Given the description of an element on the screen output the (x, y) to click on. 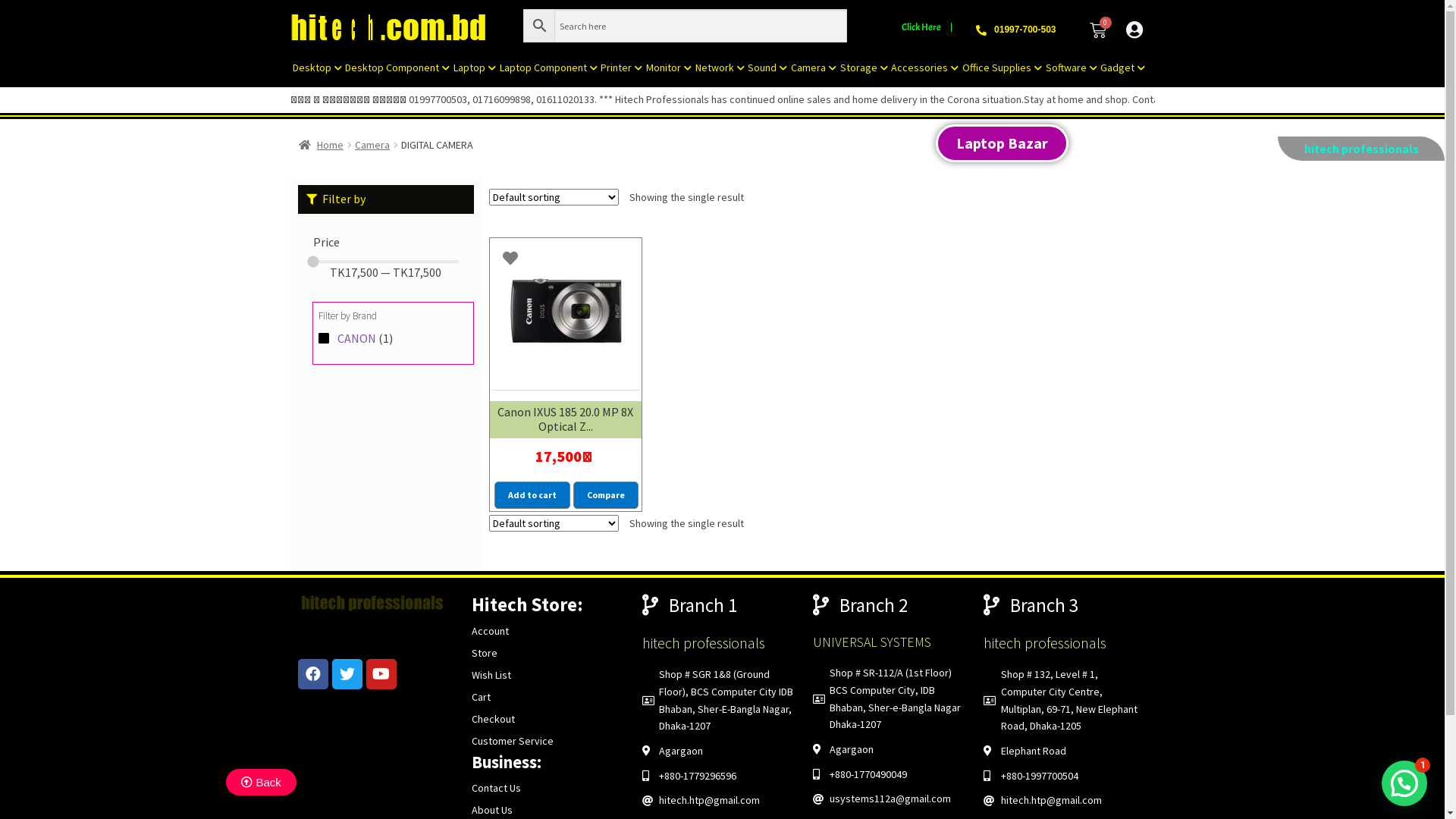
Compare Element type: text (605, 494)
Software Element type: text (1070, 67)
Sound Element type: text (767, 67)
Cart Element type: text (480, 696)
Camera Element type: text (371, 144)
Camera Element type: text (813, 67)
Store Element type: text (484, 652)
Add to cart Element type: text (532, 494)
Storage Element type: text (863, 67)
Gadget Element type: text (1122, 67)
Customer Service Element type: text (512, 740)
Account Element type: text (489, 630)
Office Supplies Element type: text (1002, 67)
hitech.htp@gmail.com Element type: text (719, 800)
Printer Element type: text (621, 67)
Laptop Element type: text (474, 67)
usystems112a@gmail.com Element type: text (890, 798)
Home Element type: text (320, 144)
Network Element type: text (719, 67)
About Us Element type: text (491, 809)
Back Element type: text (260, 781)
+880-1770490049 Element type: text (890, 774)
Contact Us Element type: text (495, 787)
Laptop Component Element type: text (548, 67)
+880-1779296596 Element type: text (719, 775)
Desktop Element type: text (317, 67)
CANON Element type: text (356, 337)
hitech.com.bd
hitech.com.bd
hitech.com.bd Element type: text (406, 28)
Wish List Element type: text (491, 674)
Desktop Component Element type: text (397, 67)
Monitor Element type: text (668, 67)
Laptop Bazar Element type: text (1001, 143)
Checkout Element type: text (492, 718)
hitech.htp@gmail.com Element type: text (1061, 800)
01997-700-503 Element type: text (1024, 29)
+880-1997700504 Element type: text (1061, 775)
Build your PC
| Element type: text (926, 28)
Accessories Element type: text (924, 67)
